Given the description of an element on the screen output the (x, y) to click on. 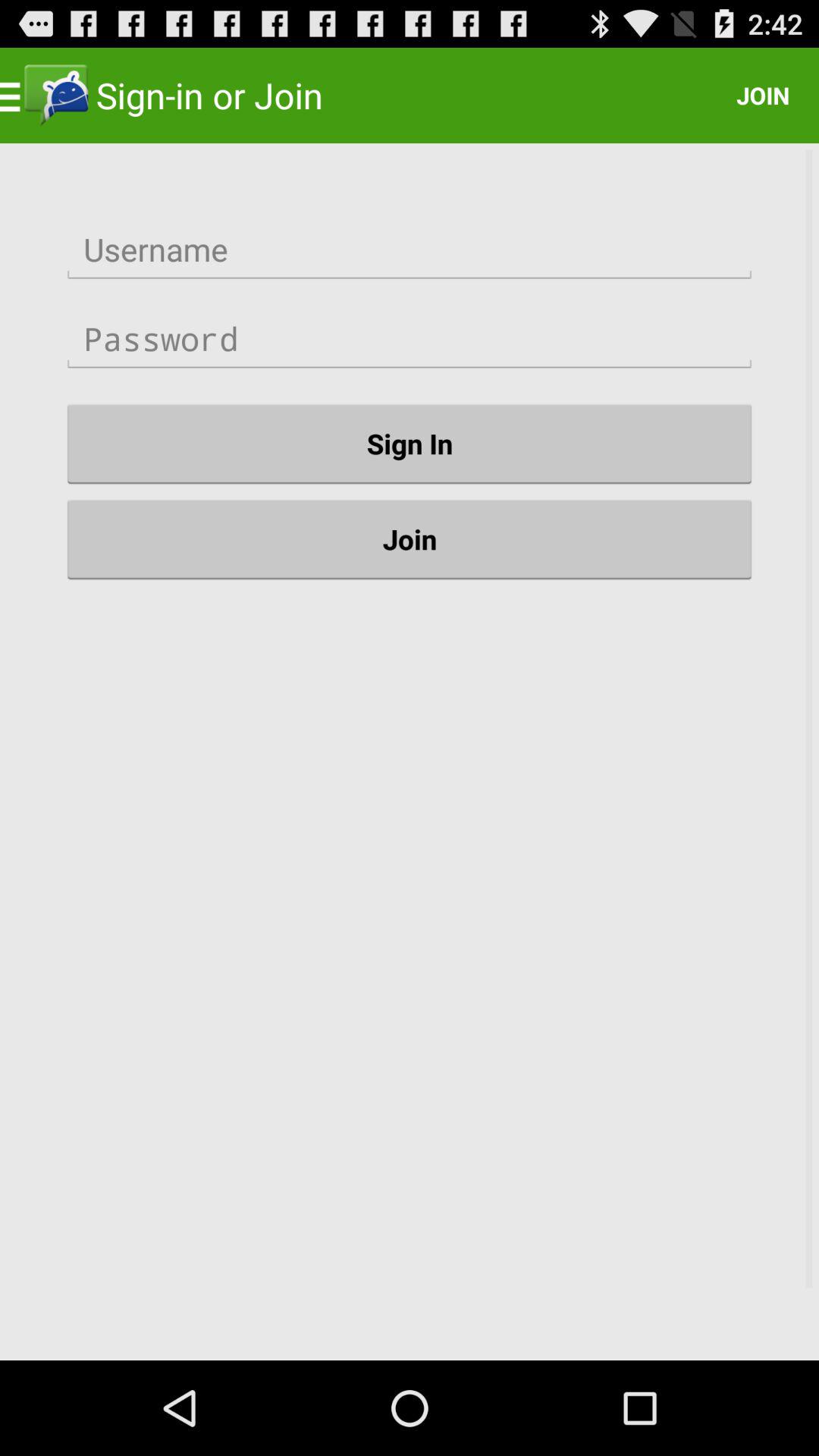
password signin page (409, 338)
